Given the description of an element on the screen output the (x, y) to click on. 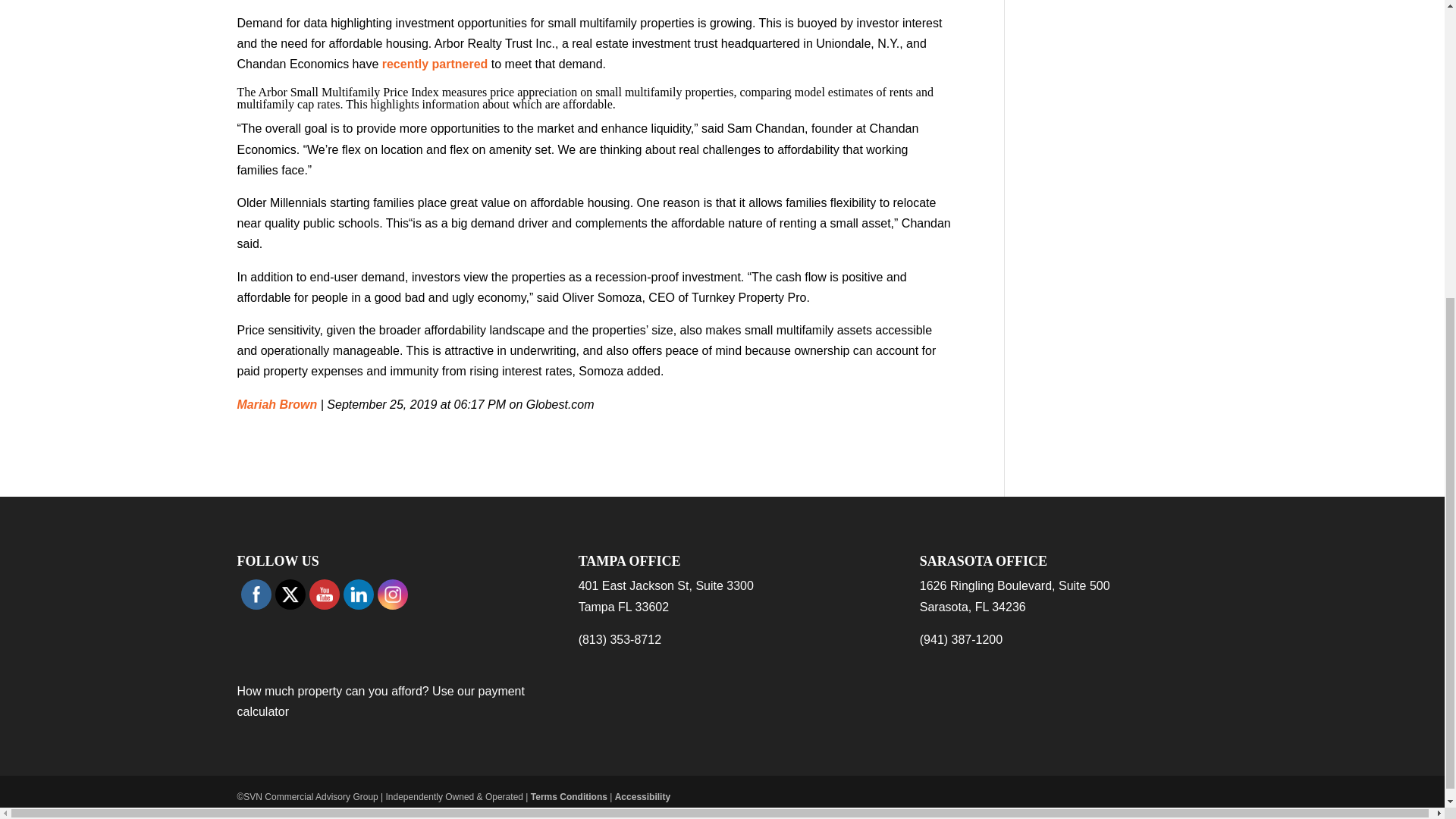
Mariah Brown (276, 403)
How much property can you afford? Use our payment calculator (379, 701)
Facebook (255, 594)
YouTube (323, 594)
Twitter (290, 595)
recently partnered (434, 63)
